Given the description of an element on the screen output the (x, y) to click on. 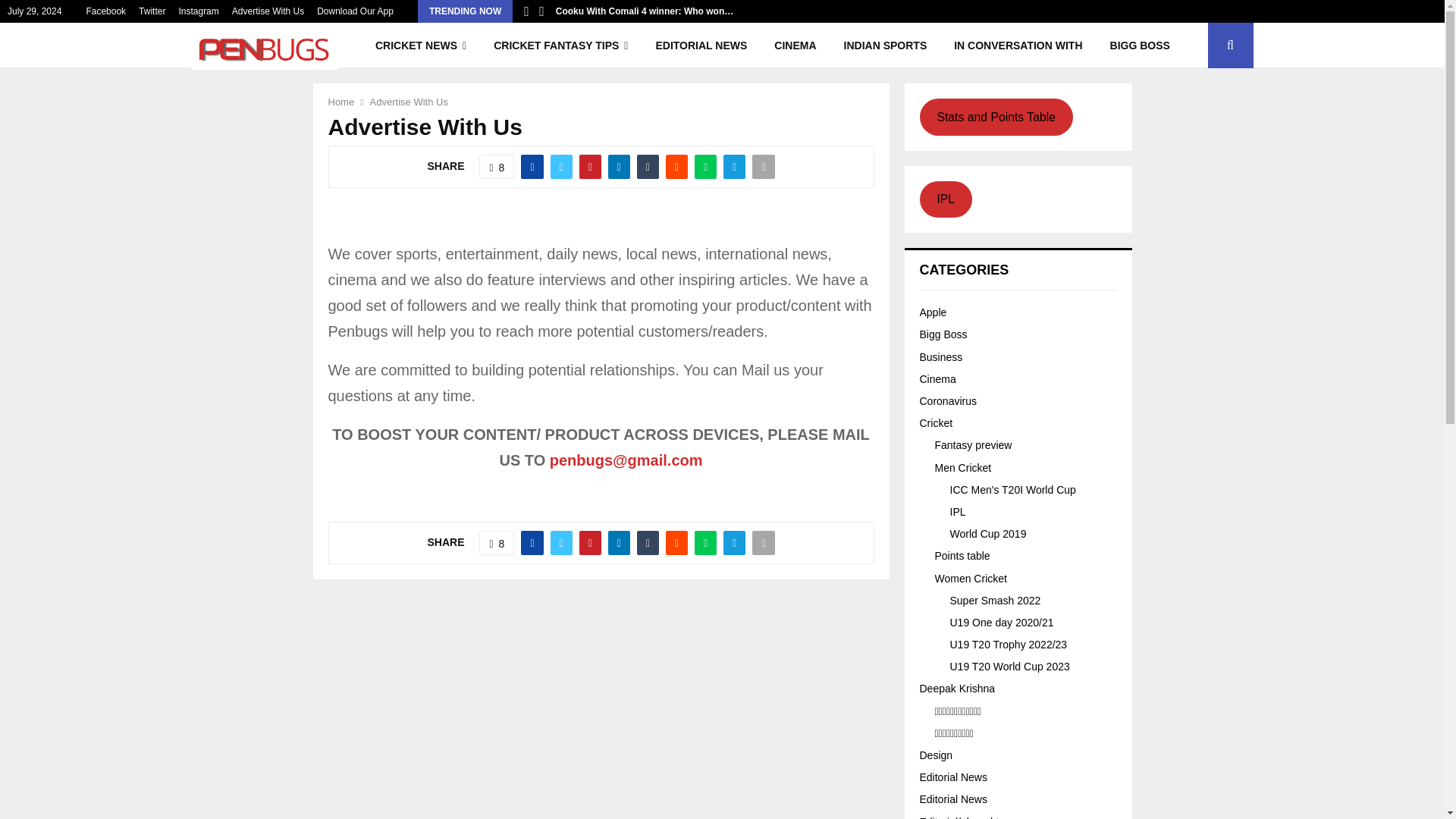
Facebook (105, 11)
CRICKET FANTASY TIPS (561, 44)
Twitter (151, 11)
CRICKET NEWS (420, 44)
IN CONVERSATION WITH (1018, 44)
EDITORIAL NEWS (701, 44)
Penbugs (197, 11)
Penbugs (105, 11)
Download Our App (355, 11)
Advertise With Us (267, 11)
Like (496, 542)
BIGG BOSS (1139, 44)
Like (496, 166)
INDIAN SPORTS (884, 44)
CINEMA (794, 44)
